Given the description of an element on the screen output the (x, y) to click on. 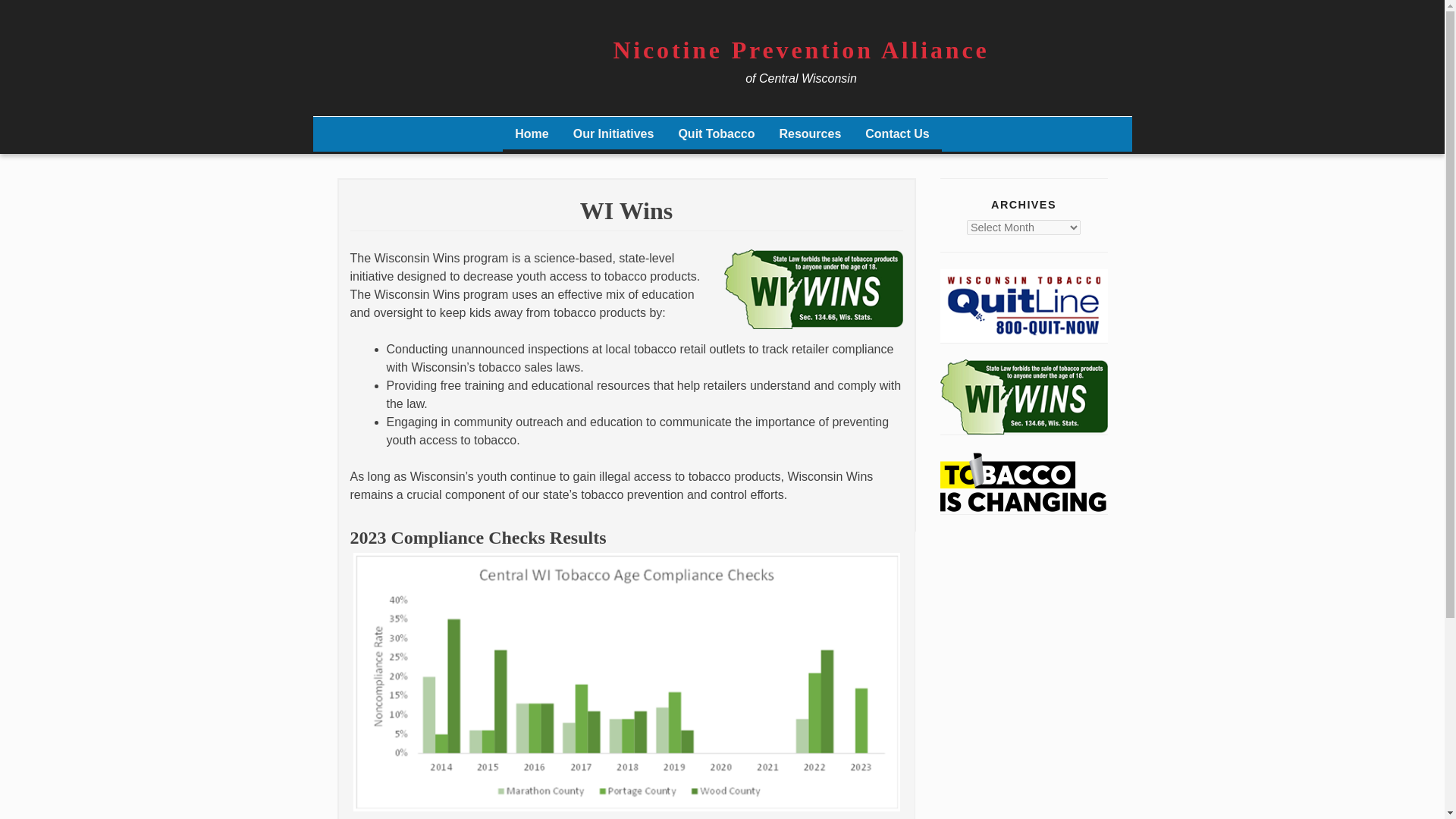
Resources (810, 134)
Home (531, 134)
Nicotine Prevention Alliance (800, 49)
Quit Tobacco (716, 134)
Our Initiatives (613, 134)
Contact Us (896, 134)
